Given the description of an element on the screen output the (x, y) to click on. 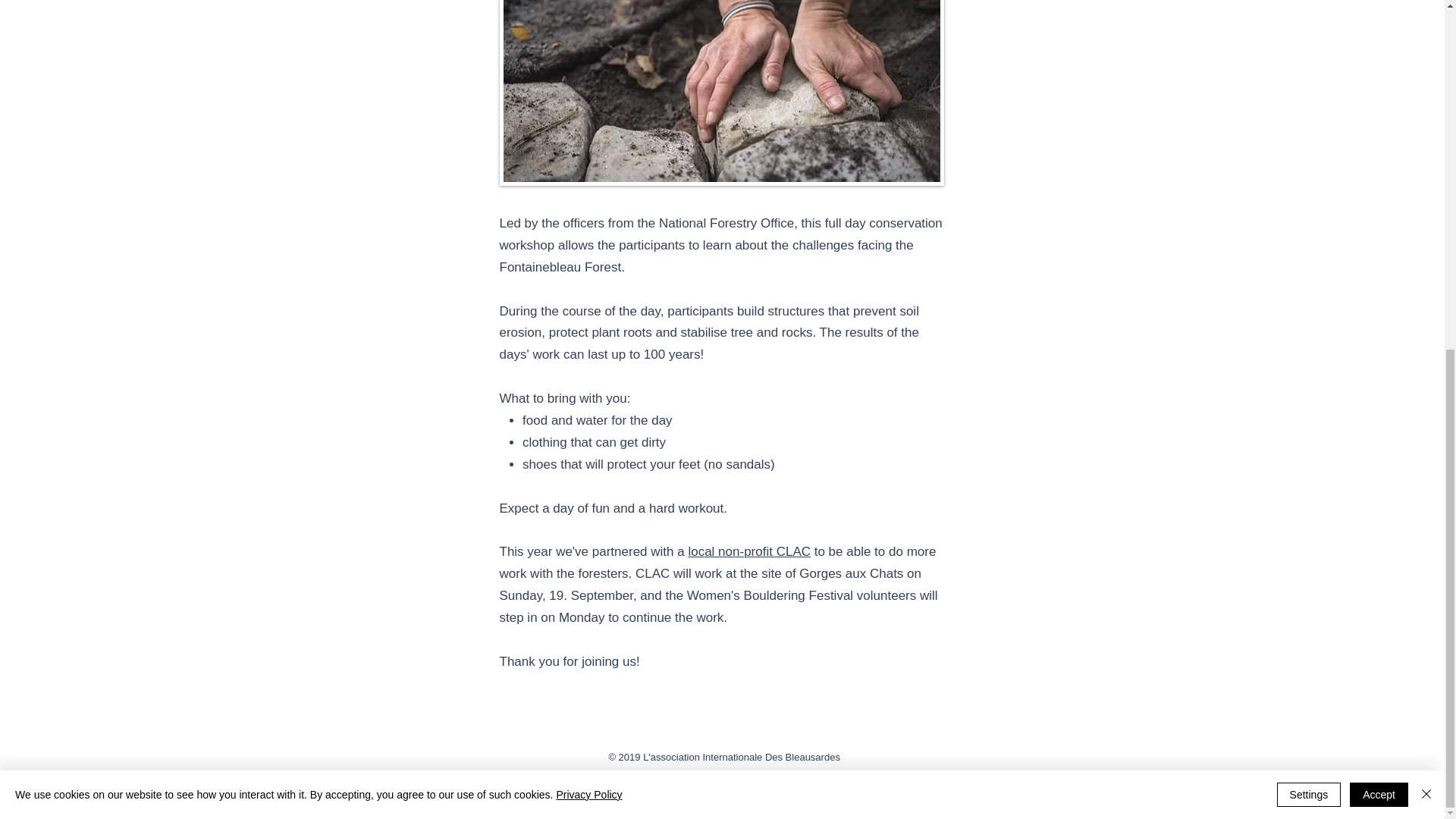
local non-profit CLAC (748, 551)
Accept (1378, 188)
Privacy Policy (588, 188)
Settings (1308, 188)
